Given the description of an element on the screen output the (x, y) to click on. 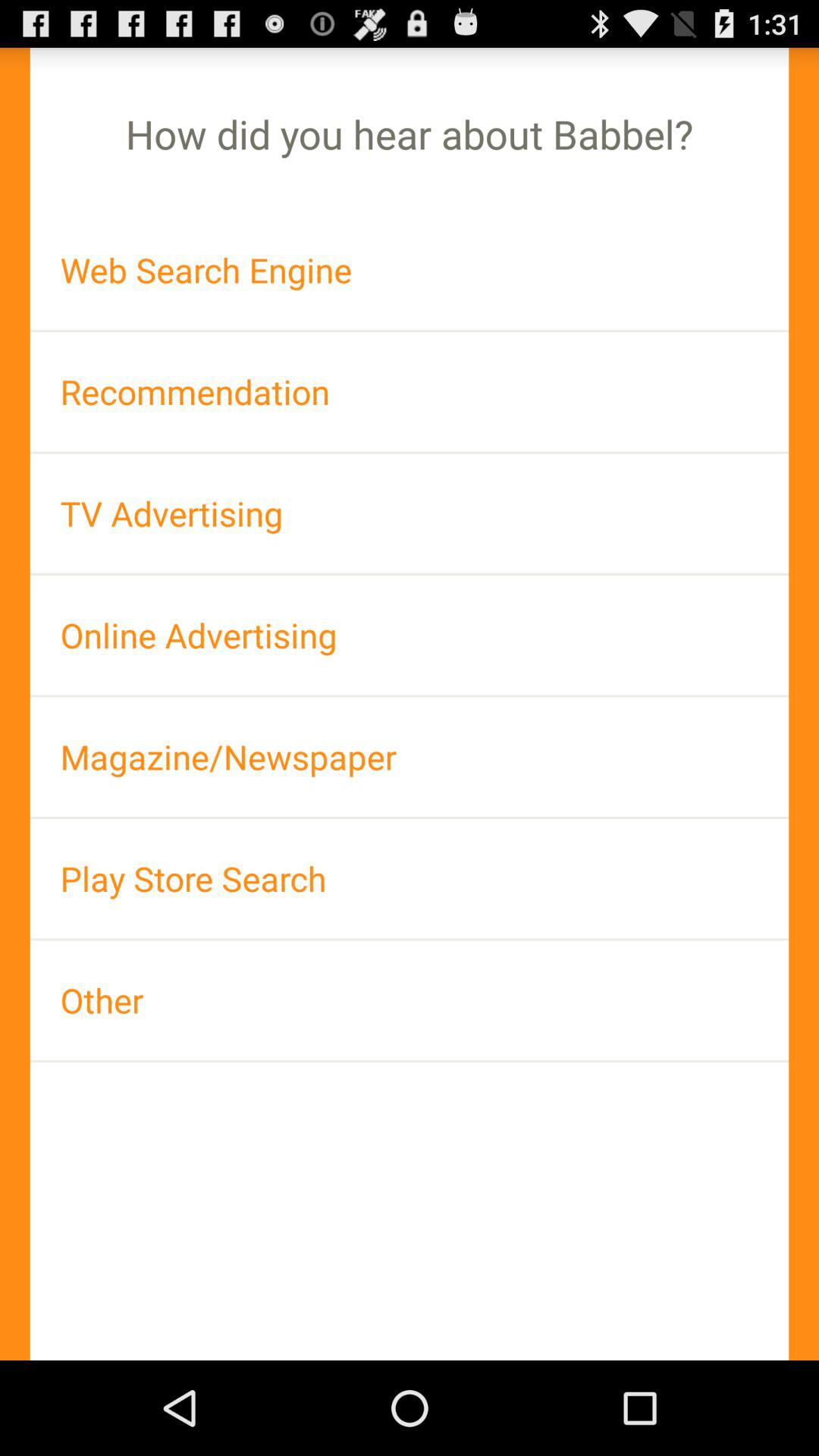
turn on web search engine icon (409, 269)
